Given the description of an element on the screen output the (x, y) to click on. 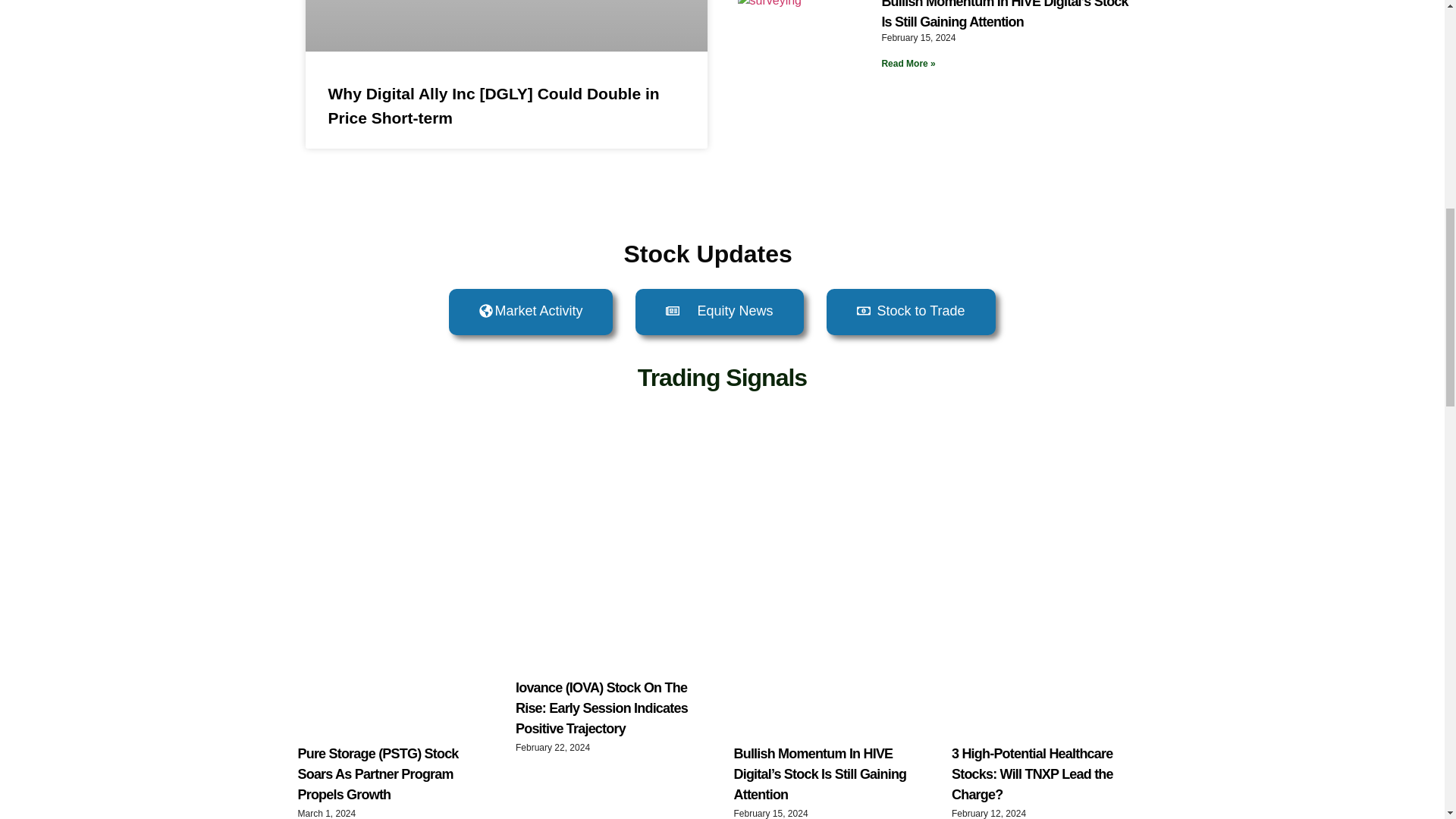
Trading Signals (721, 377)
Market Activity (530, 311)
Stock to Trade (911, 311)
Equity News (718, 311)
